Given the description of an element on the screen output the (x, y) to click on. 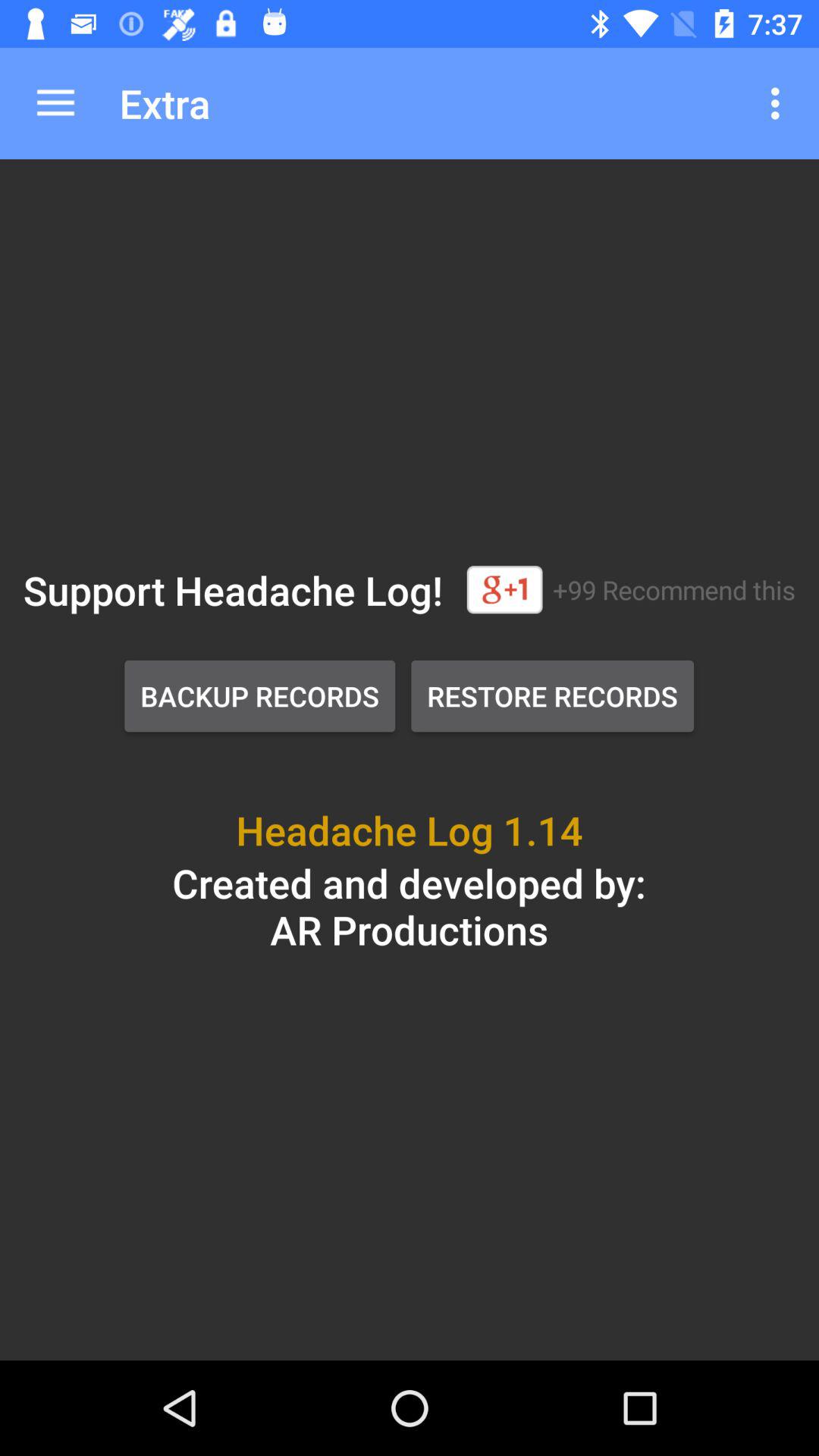
choose icon next to the extra app (779, 103)
